Given the description of an element on the screen output the (x, y) to click on. 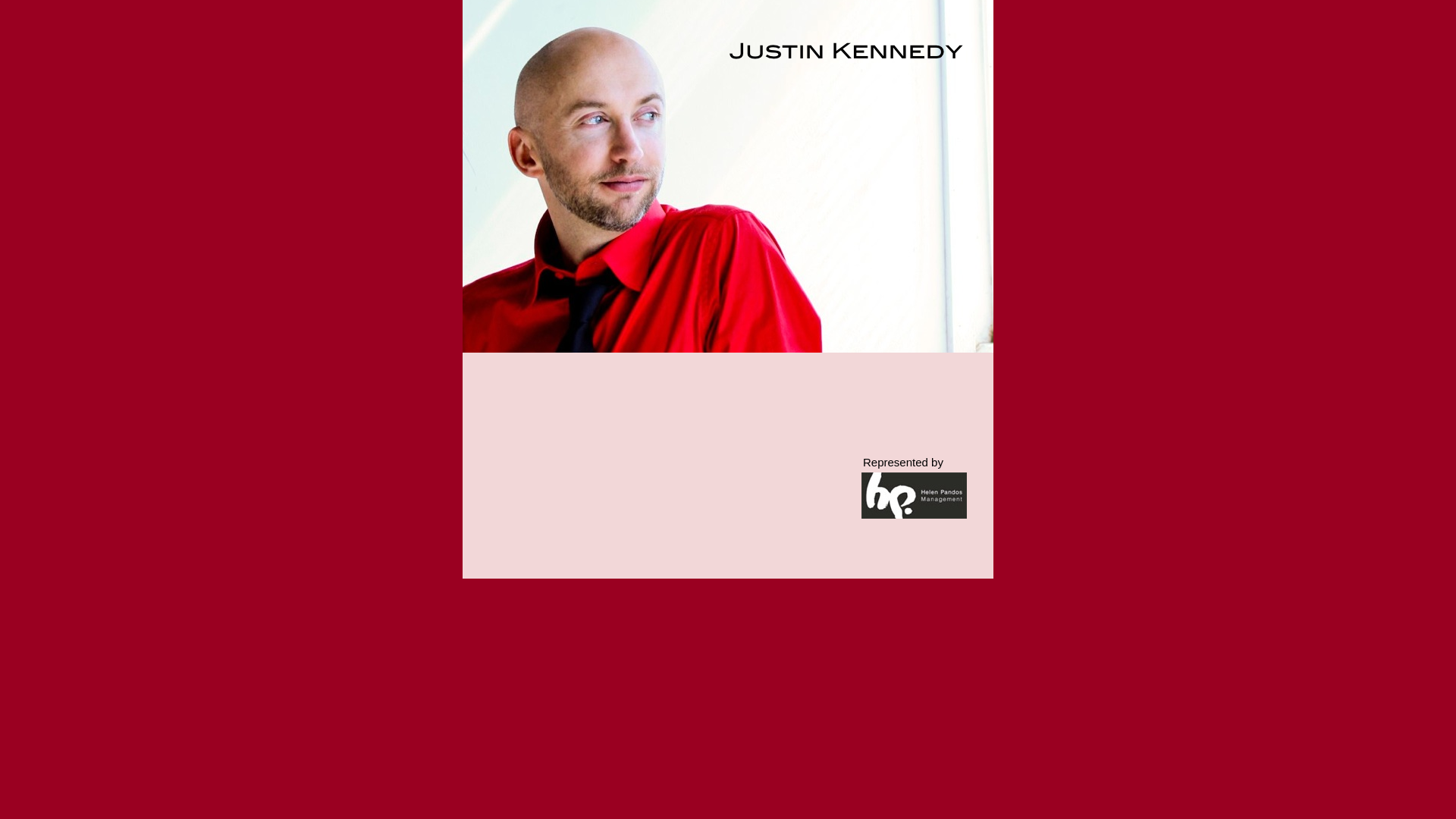
http://www.helenpandos.com Element type: hover (913, 514)
